Given the description of an element on the screen output the (x, y) to click on. 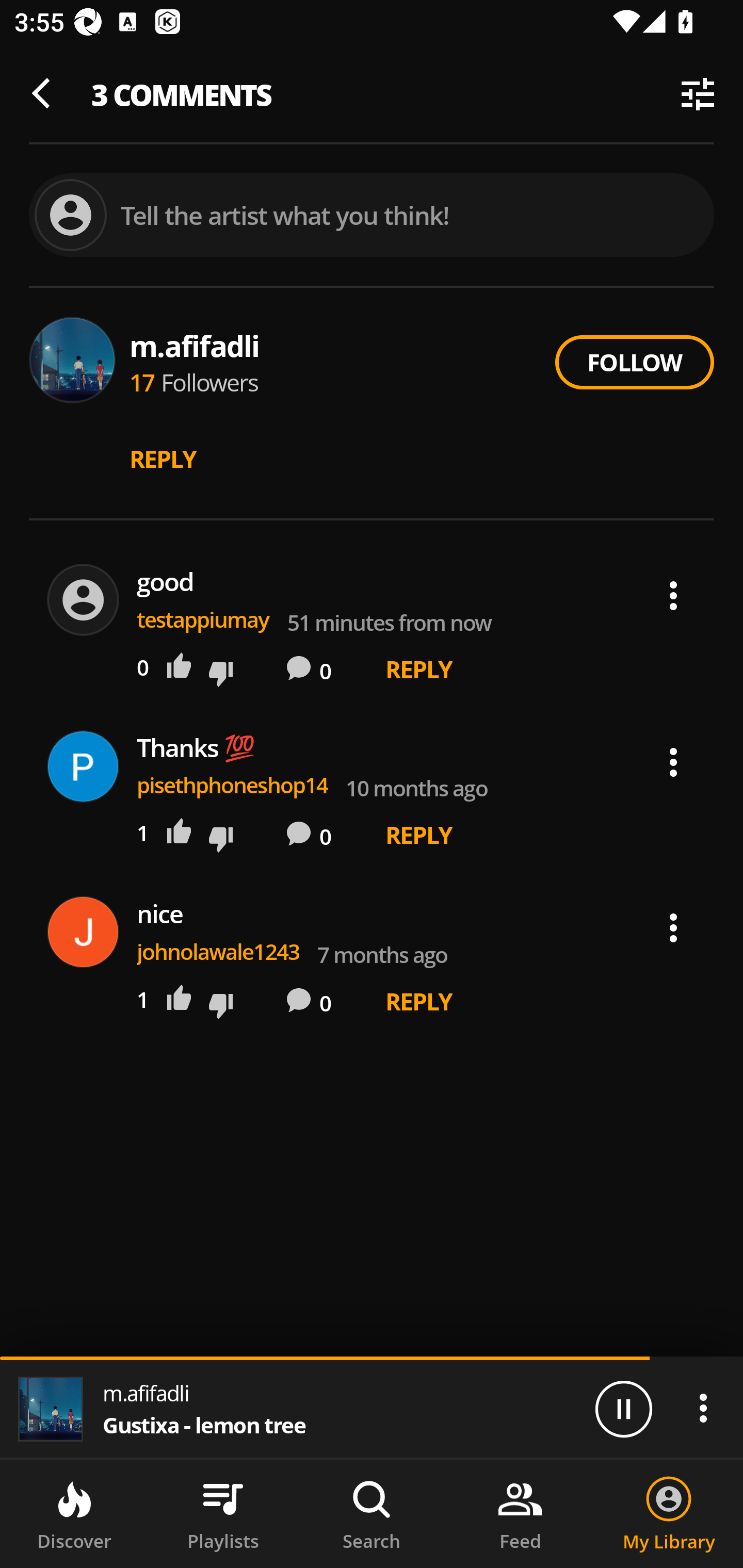
Close (46, 93)
Sort (697, 93)
Tell the artist what you think! (371, 215)
FOLLOW Follow (634, 361)
REPLY (163, 458)
Actions (673, 595)
testappiumay (203, 620)
REPLY (418, 668)
Actions (673, 761)
pisethphoneshop14 (232, 784)
REPLY (418, 834)
Actions (673, 927)
johnolawale1243 (218, 950)
REPLY (418, 1000)
Actions (703, 1407)
Play/Pause (623, 1408)
Discover (74, 1513)
Playlists (222, 1513)
Search (371, 1513)
Feed (519, 1513)
My Library (668, 1513)
